Given the description of an element on the screen output the (x, y) to click on. 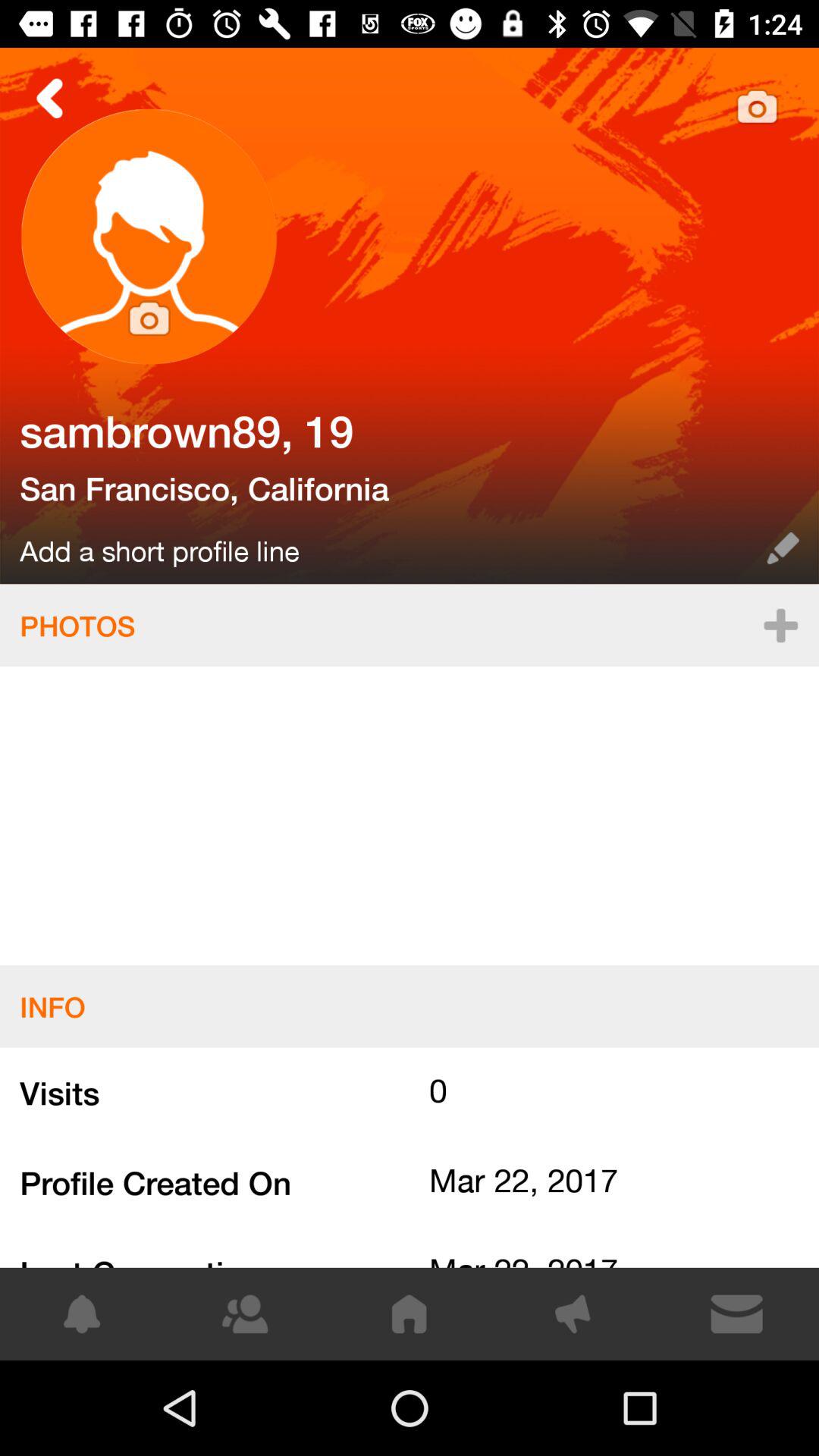
click to select this photo (409, 315)
